Given the description of an element on the screen output the (x, y) to click on. 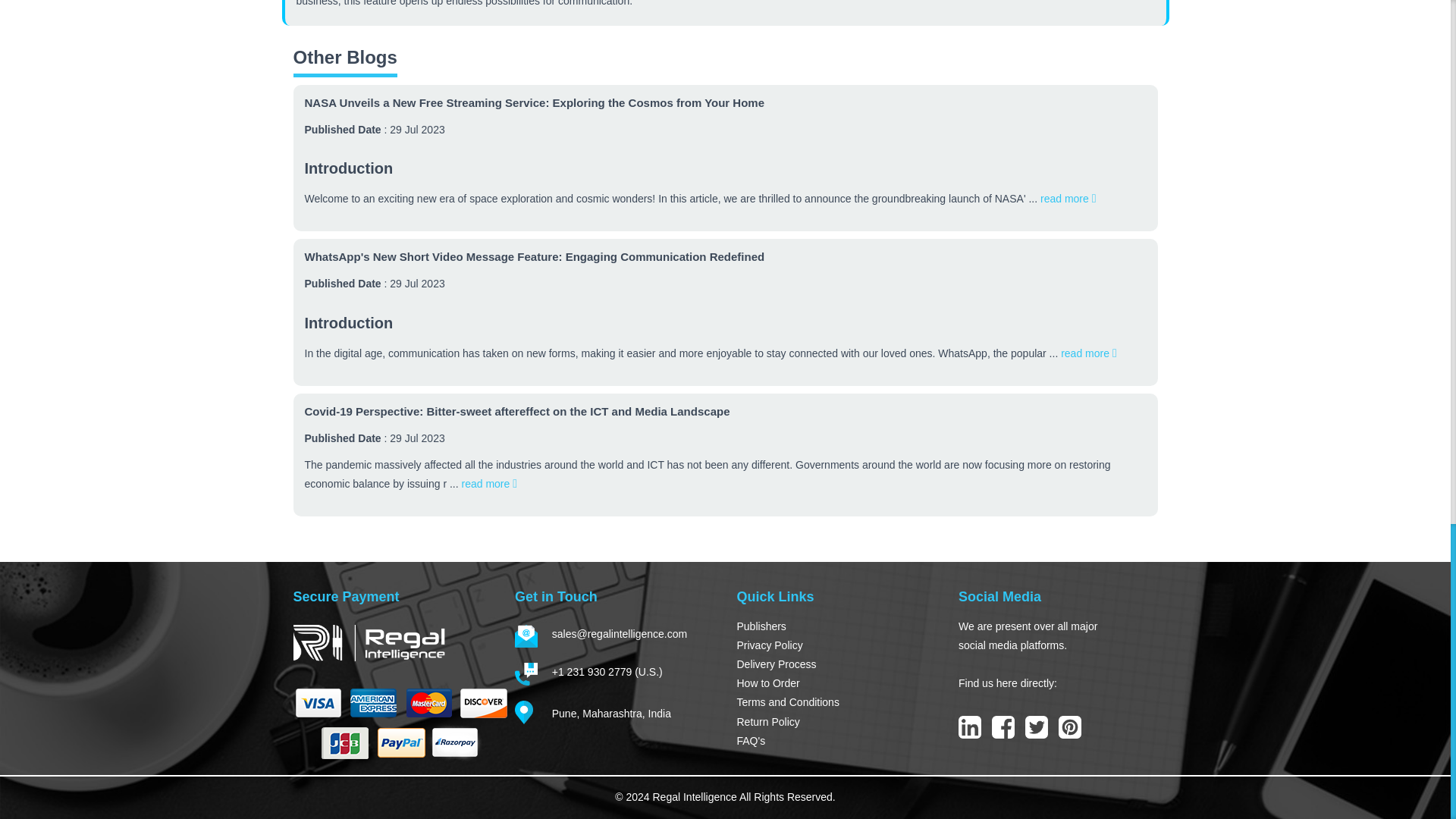
How to Order (836, 683)
read more (1088, 353)
Terms and Conditions (836, 701)
Return Policy (836, 722)
read more (1068, 198)
Delivery Process (836, 664)
read more (488, 483)
FAQ's (836, 741)
Publishers (836, 626)
Privacy Policy (836, 645)
